Given the description of an element on the screen output the (x, y) to click on. 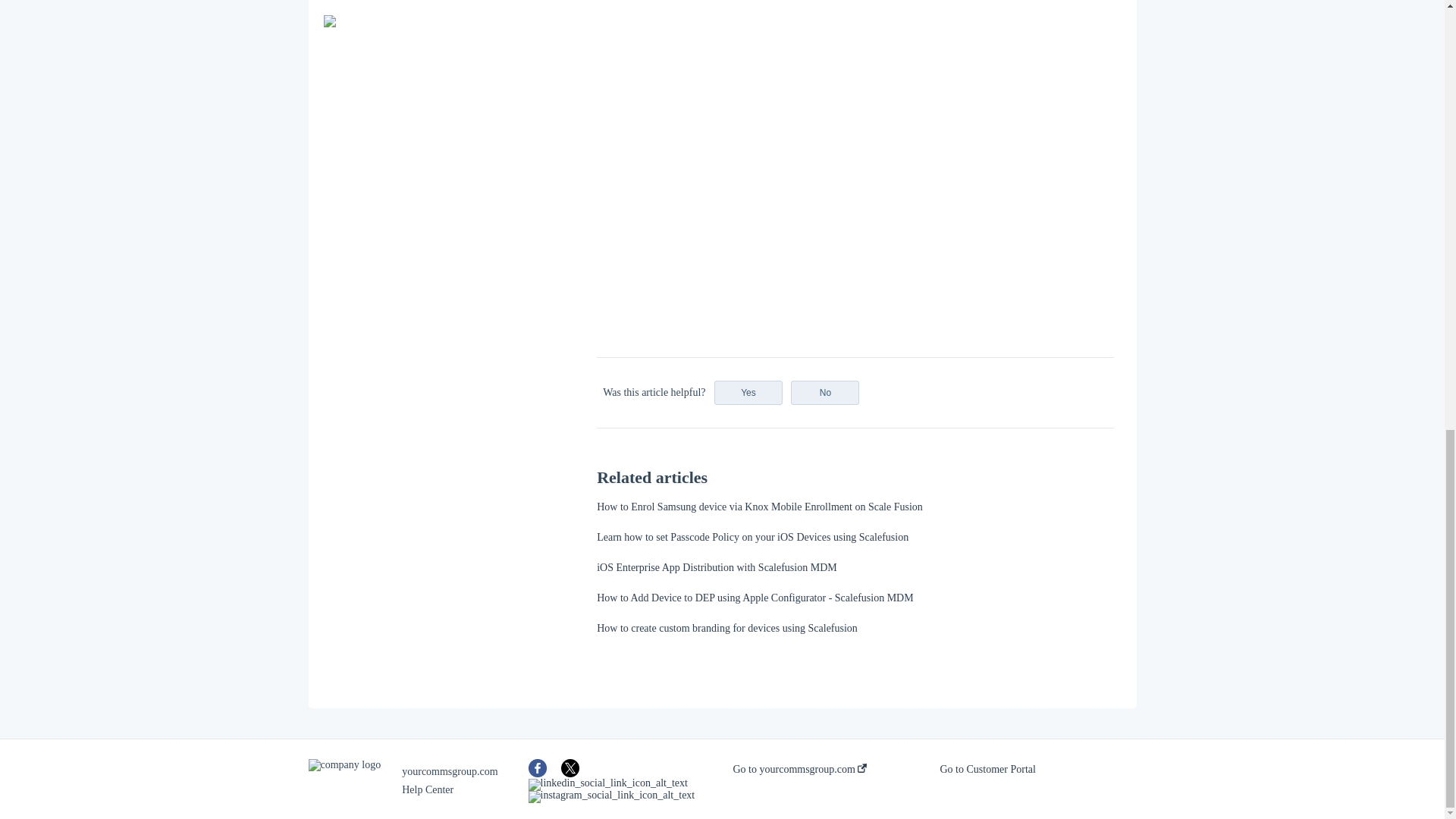
Go to Customer Portal (987, 769)
How to create custom branding for devices using Scalefusion (726, 627)
Yes (748, 392)
Go to yourcommsgroup.com (799, 769)
No (824, 392)
iOS Enterprise App Distribution with Scalefusion MDM (716, 567)
